Given the description of an element on the screen output the (x, y) to click on. 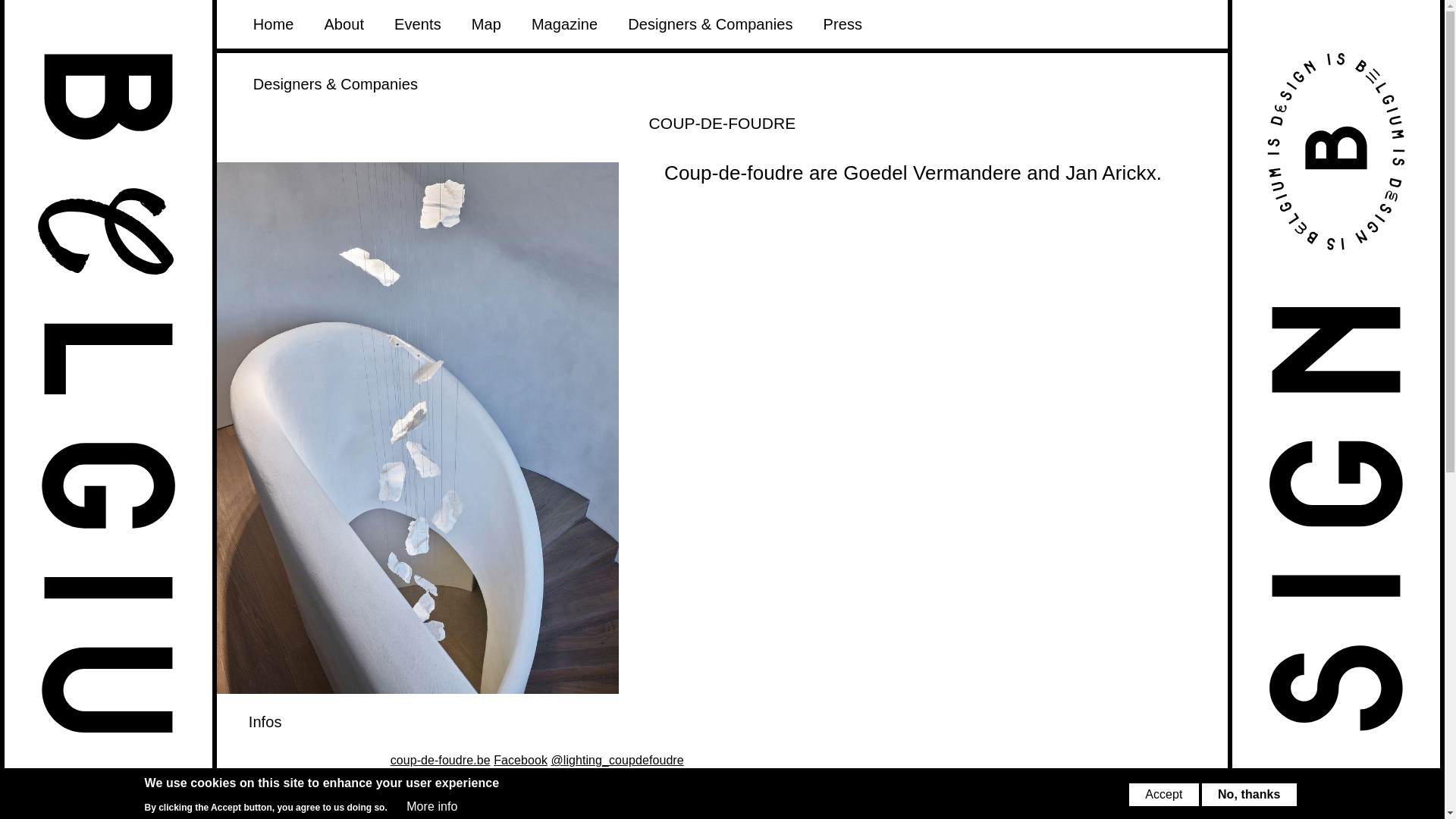
Press (843, 23)
coup-de-foudre.be (440, 759)
Events (417, 23)
Facebook (520, 759)
About (343, 23)
Map (485, 23)
No, thanks (1249, 793)
More info (431, 806)
Magazine (563, 23)
Accept (1163, 793)
